Given the description of an element on the screen output the (x, y) to click on. 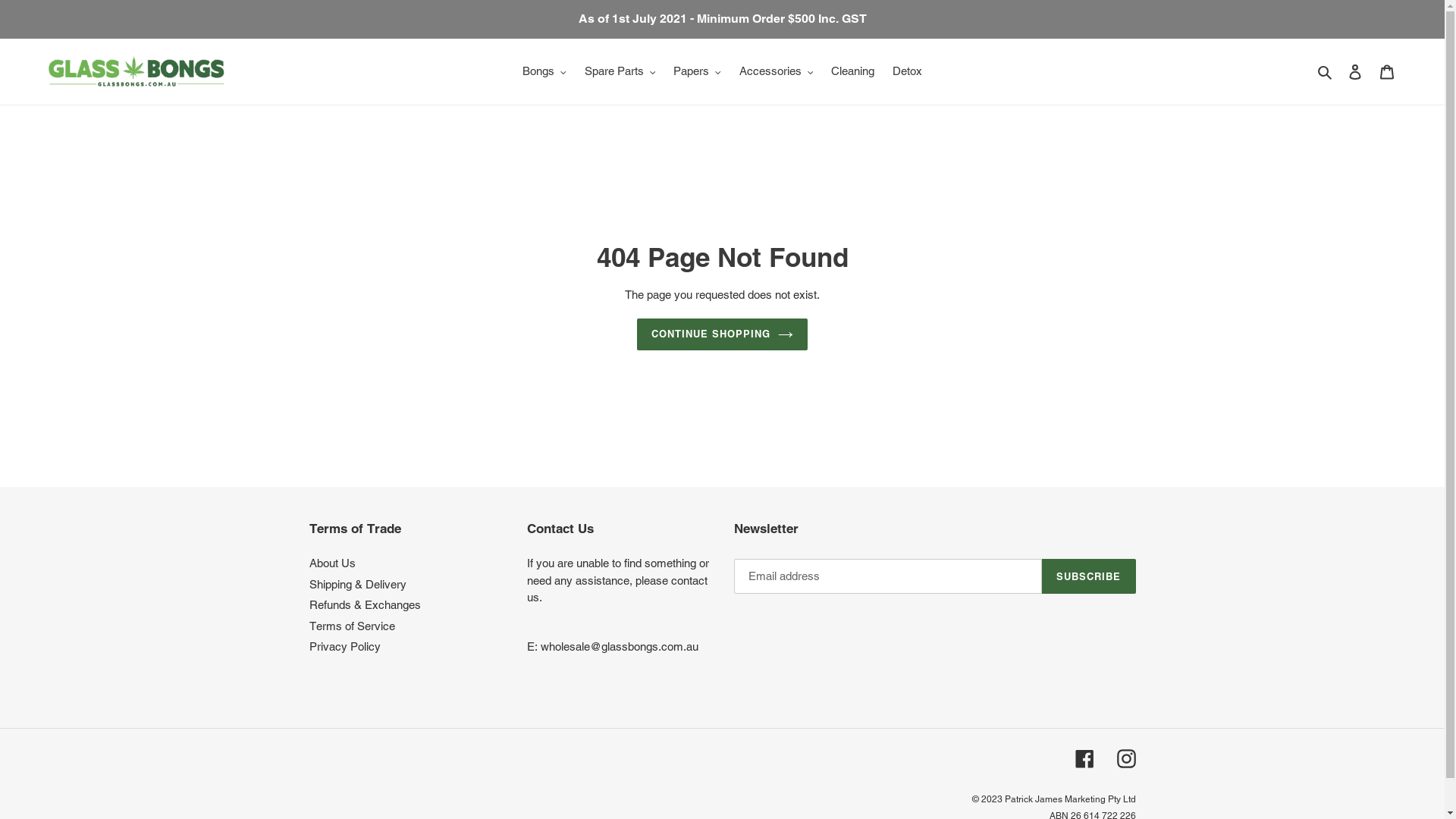
Accessories Element type: text (775, 71)
Shipping & Delivery Element type: text (357, 583)
Cart Element type: text (1386, 71)
Instagram Element type: text (1125, 758)
Spare Parts Element type: text (619, 71)
CONTINUE SHOPPING Element type: text (722, 334)
Terms of Service Element type: text (352, 625)
Detox Element type: text (906, 71)
Facebook Element type: text (1084, 758)
Papers Element type: text (696, 71)
Privacy Policy Element type: text (344, 646)
Search Element type: text (1325, 71)
Bongs Element type: text (544, 71)
Log in Element type: text (1355, 71)
About Us Element type: text (332, 562)
Cleaning Element type: text (852, 71)
Refunds & Exchanges Element type: text (364, 604)
SUBSCRIBE Element type: text (1088, 575)
